Given the description of an element on the screen output the (x, y) to click on. 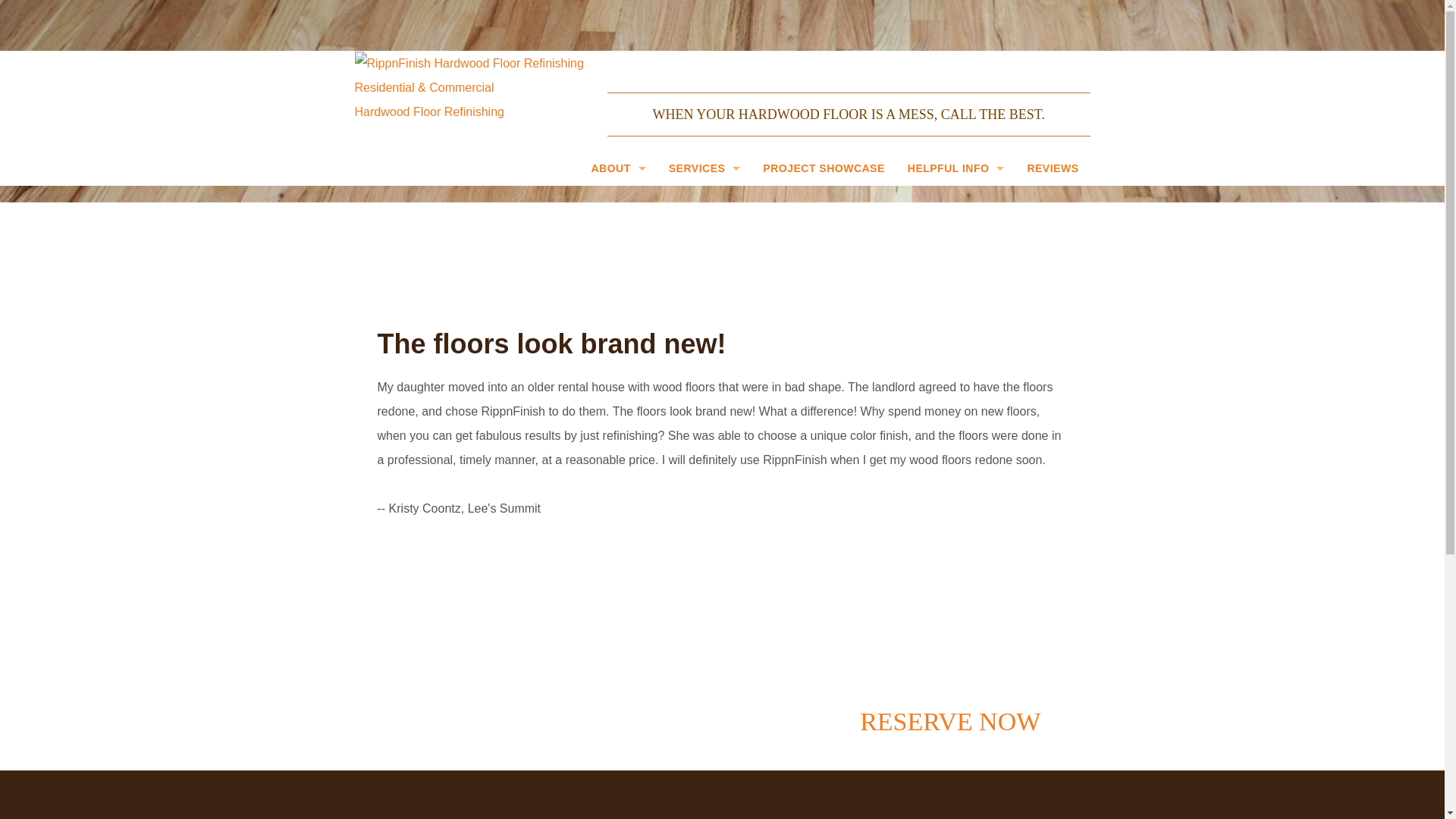
HARDWOOD FLOORING INSTALLATION (705, 253)
ABOUT (617, 168)
HARDWOOD FLOOR REPAIRS (705, 287)
COMPANY (617, 219)
SERVICES (705, 168)
HARDWOOD FLOOR REFINISHING (705, 219)
GIVING BACK TO KC (617, 253)
COMMERCIAL FLOORS (705, 390)
